Given the description of an element on the screen output the (x, y) to click on. 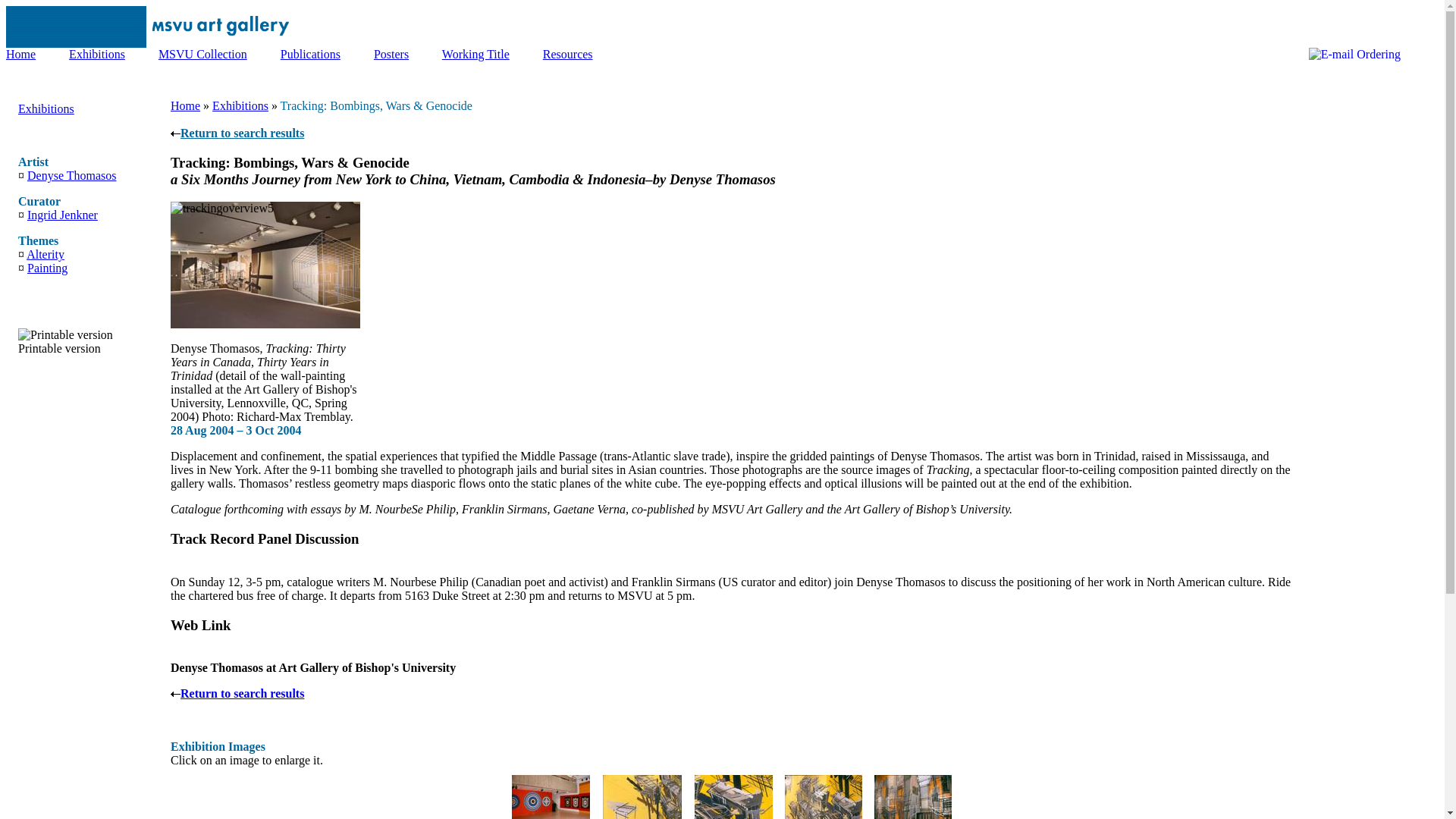
Printable version (65, 335)
trackingoverview5 (264, 264)
Working Title (475, 53)
Resources (567, 53)
Working Title (475, 53)
Denyse Thomasos Tracking (550, 796)
Exhibitions (45, 108)
Alterity (45, 254)
MSVU Collection (202, 53)
Return to search results (237, 132)
